Given the description of an element on the screen output the (x, y) to click on. 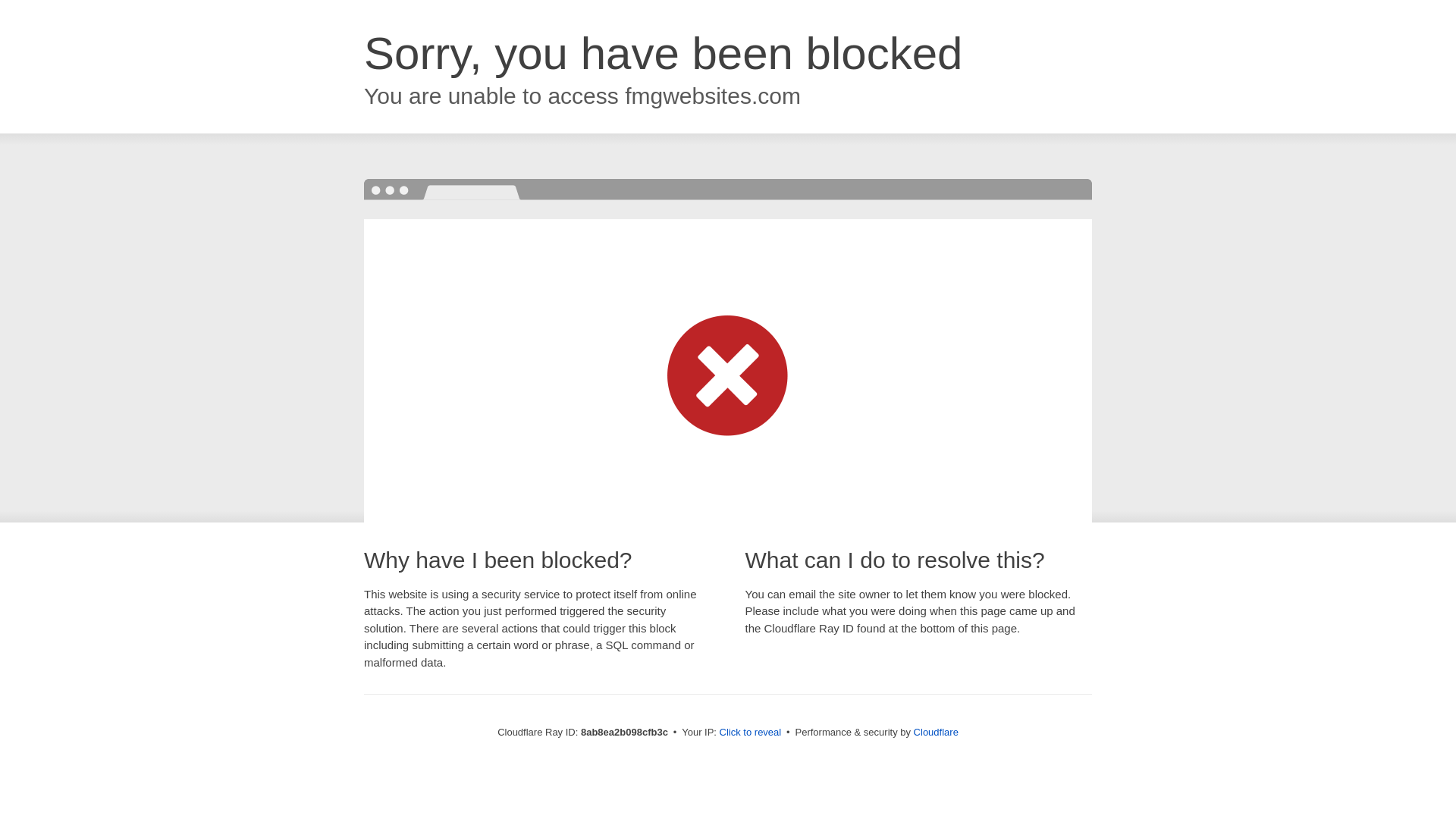
Cloudflare (936, 731)
Click to reveal (750, 732)
